Given the description of an element on the screen output the (x, y) to click on. 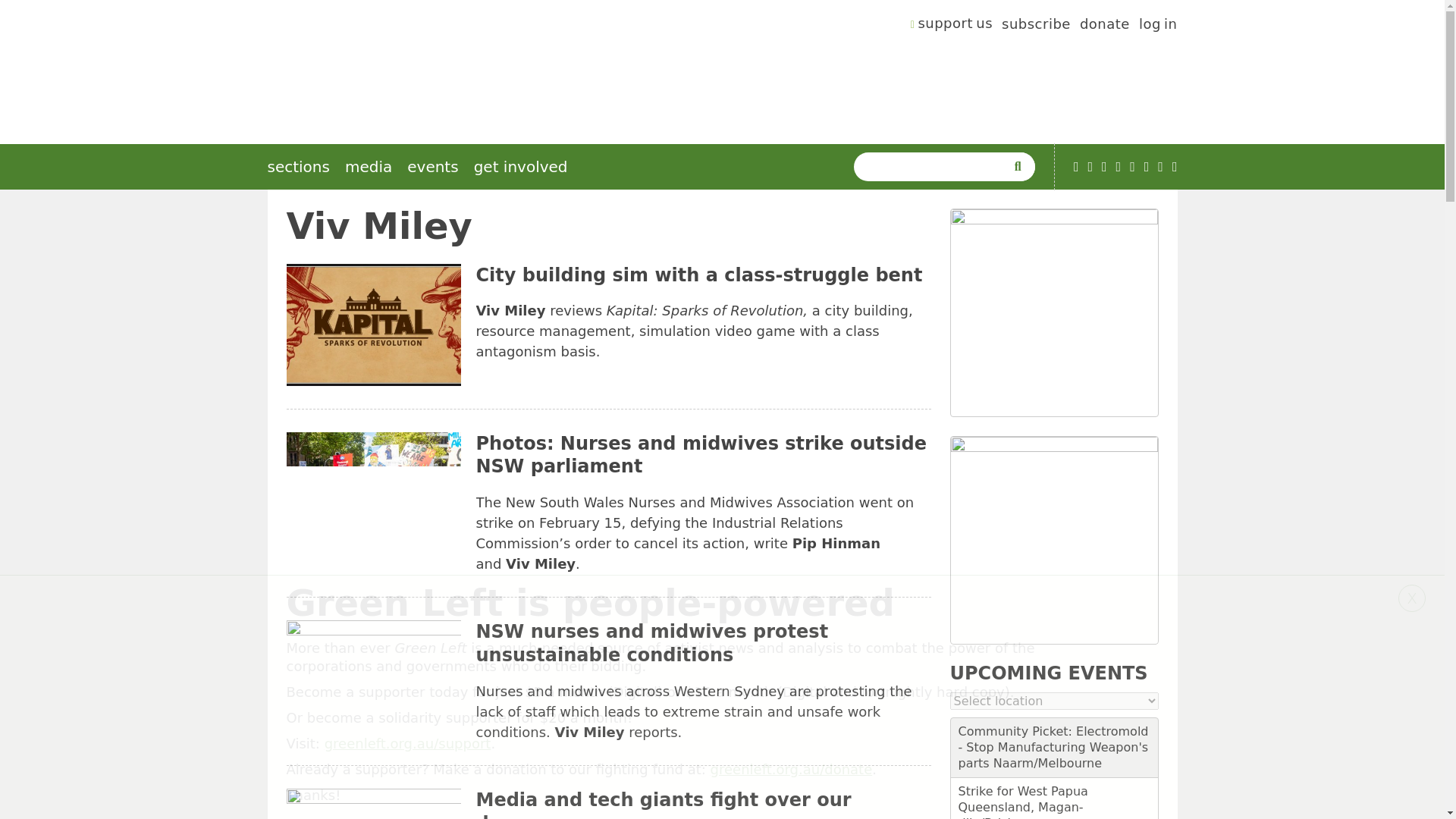
Enter the terms you wish to search for. (932, 166)
log in (1157, 26)
donate (1104, 26)
support us (951, 26)
events (432, 166)
subscribe (1035, 26)
